Given the description of an element on the screen output the (x, y) to click on. 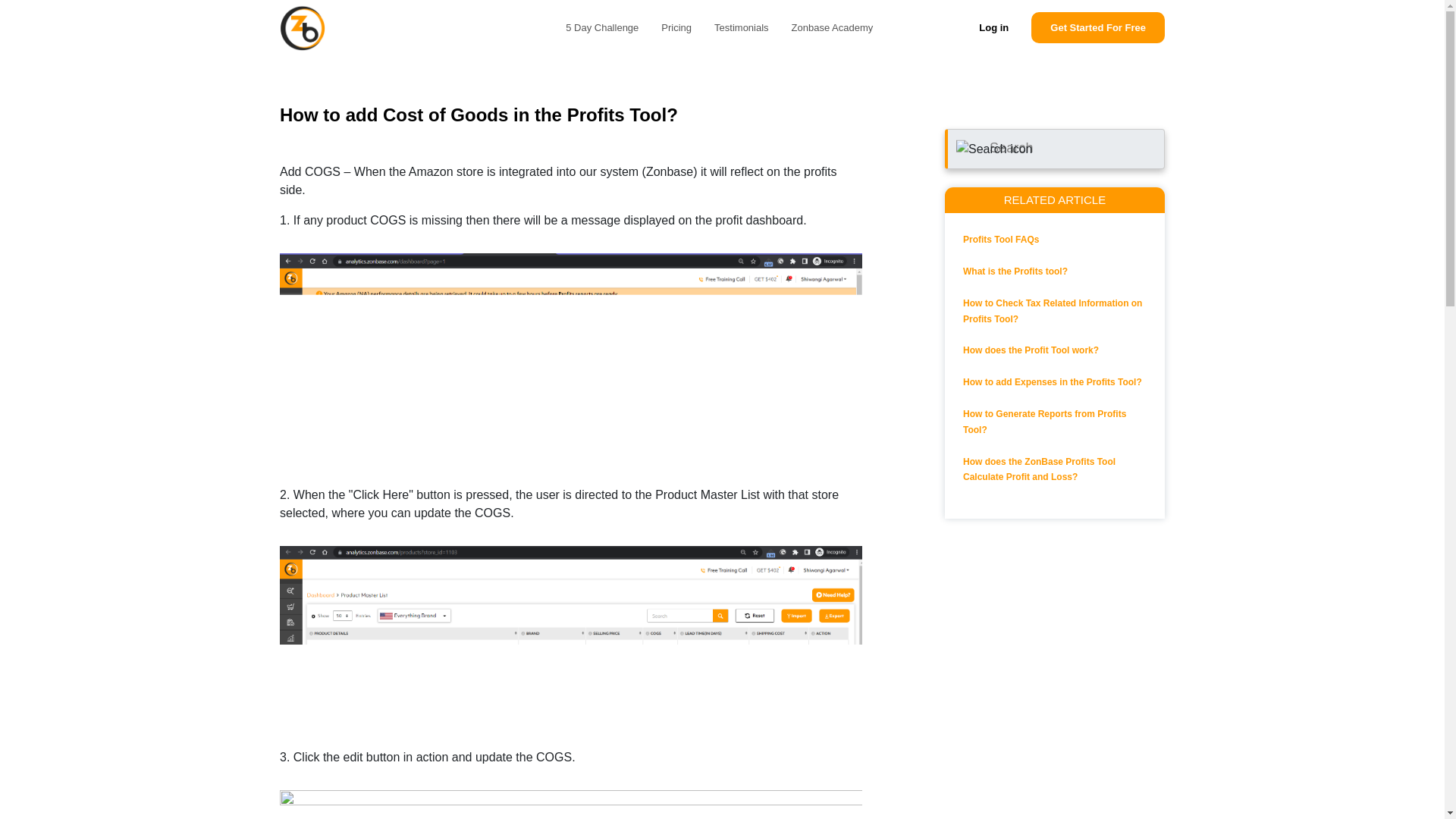
View Article (1043, 421)
Get Started For Free (1098, 28)
Testimonials (741, 28)
How does the ZonBase Profits Tool Calculate Profit and Loss? (1038, 469)
How to add Expenses in the Profits Tool? (1051, 381)
How does the Profit Tool work? (1030, 349)
How to Generate Reports from Profits Tool? (1043, 421)
Zonbase Academy (832, 28)
View Article (1030, 349)
Pricing (676, 28)
